Given the description of an element on the screen output the (x, y) to click on. 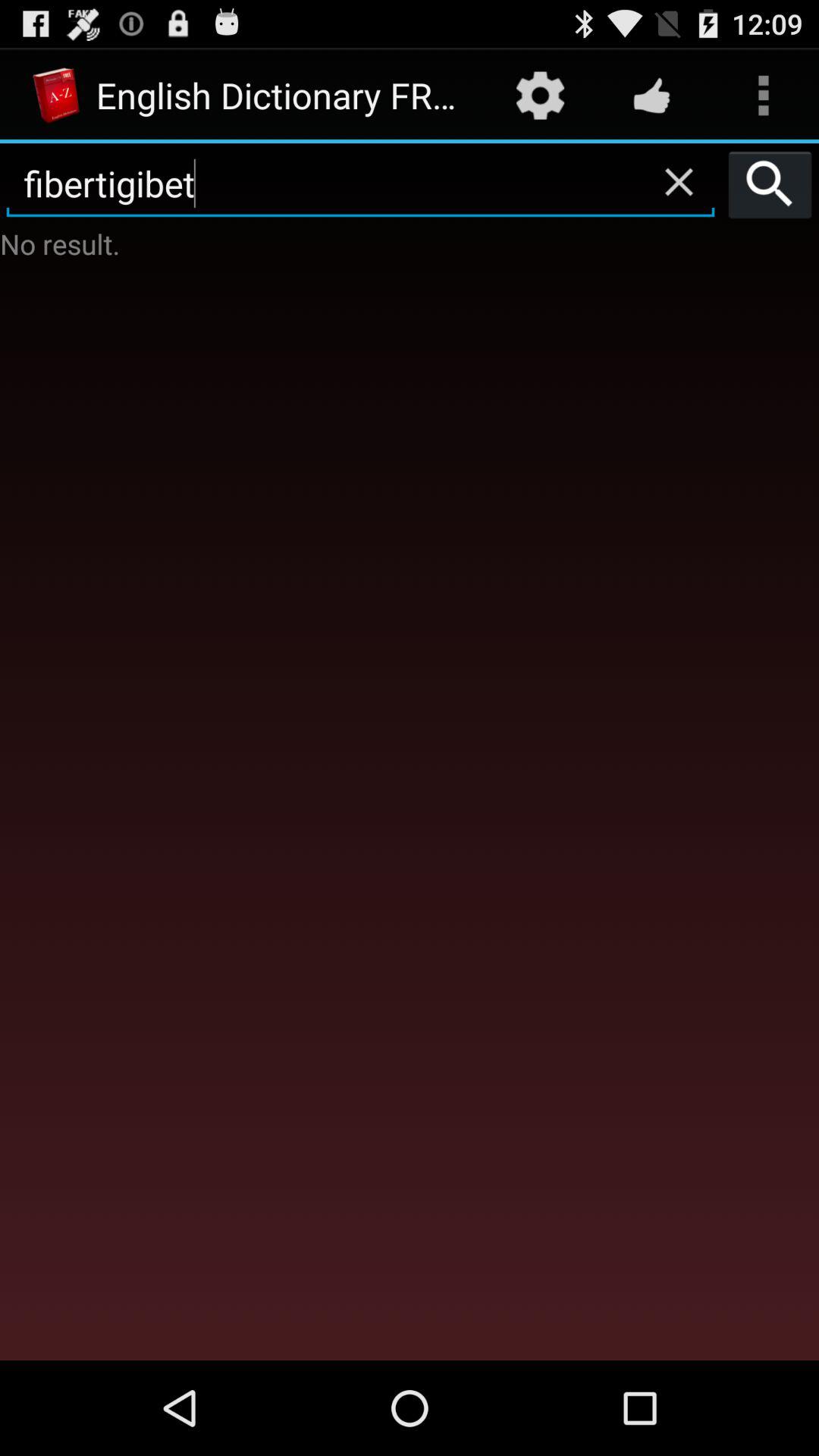
turn on icon above fibertigibet icon (540, 95)
